Given the description of an element on the screen output the (x, y) to click on. 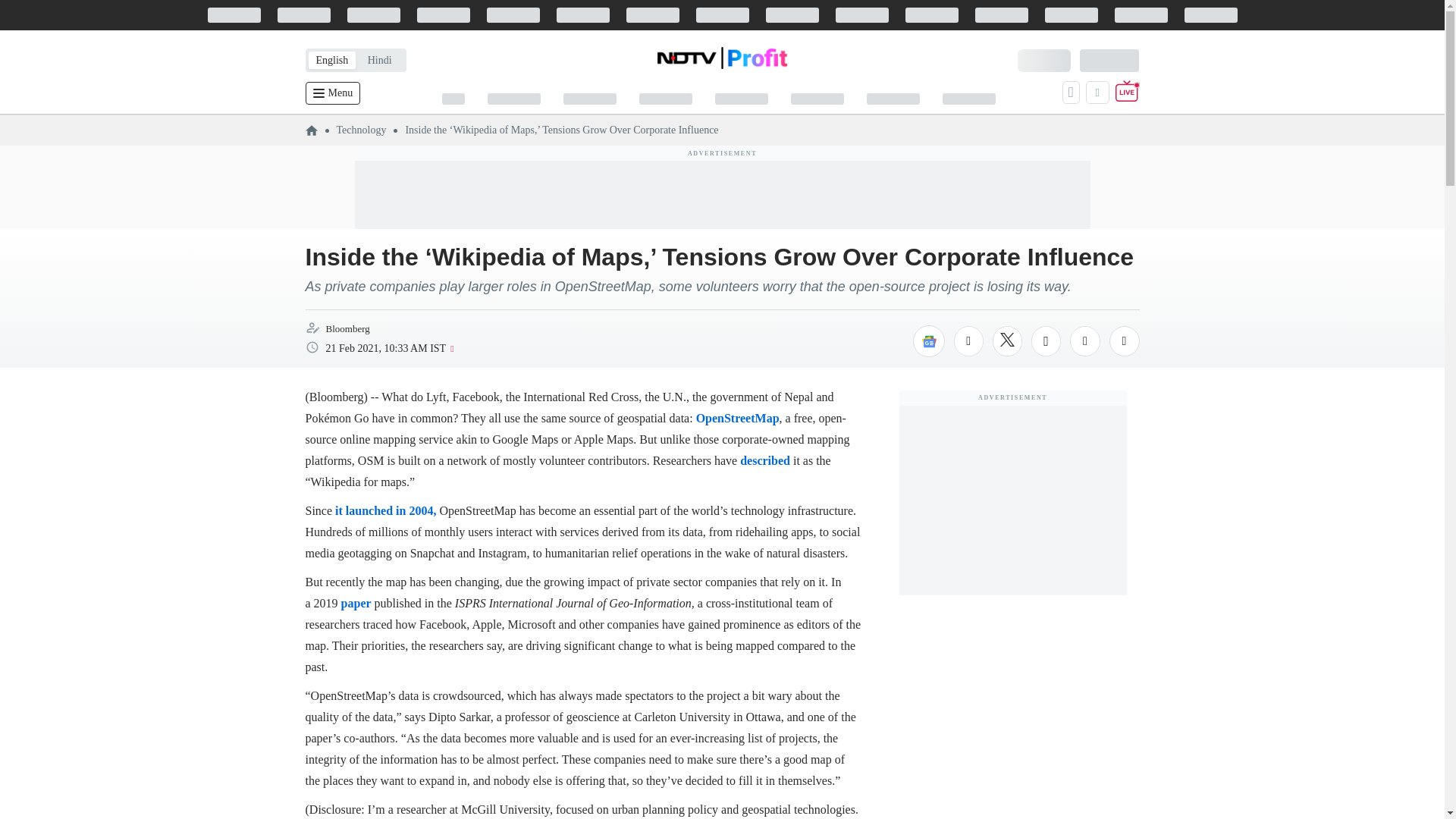
Hindi (378, 59)
Hindi (379, 59)
English (331, 59)
Menu (331, 92)
Live TV (1127, 92)
